Given the description of an element on the screen output the (x, y) to click on. 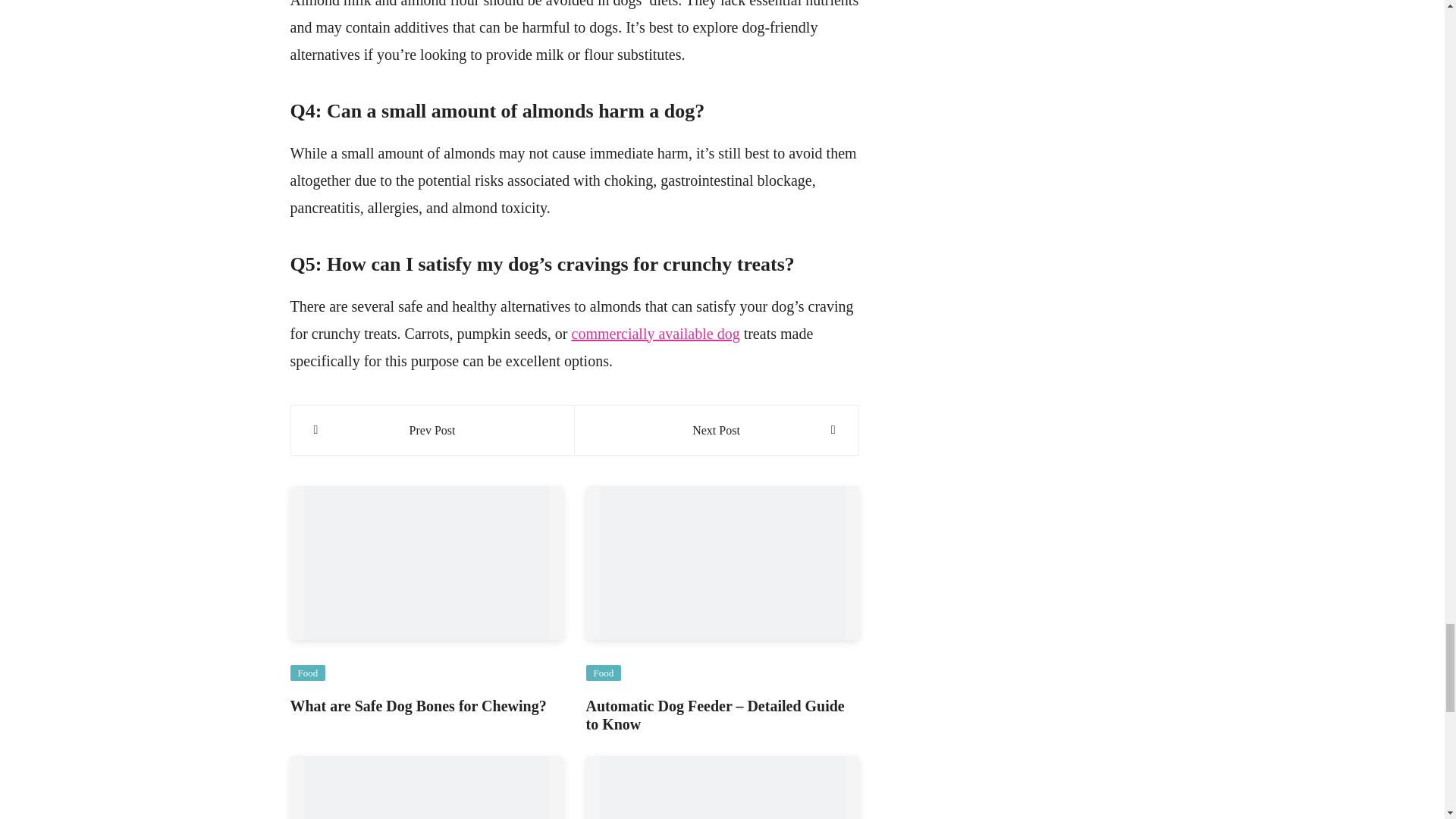
commercially available dog (655, 333)
Food (306, 672)
Next Post (715, 430)
What are Safe Dog Bones for Chewing? (417, 705)
Prev Post (432, 430)
Food (603, 672)
